Given the description of an element on the screen output the (x, y) to click on. 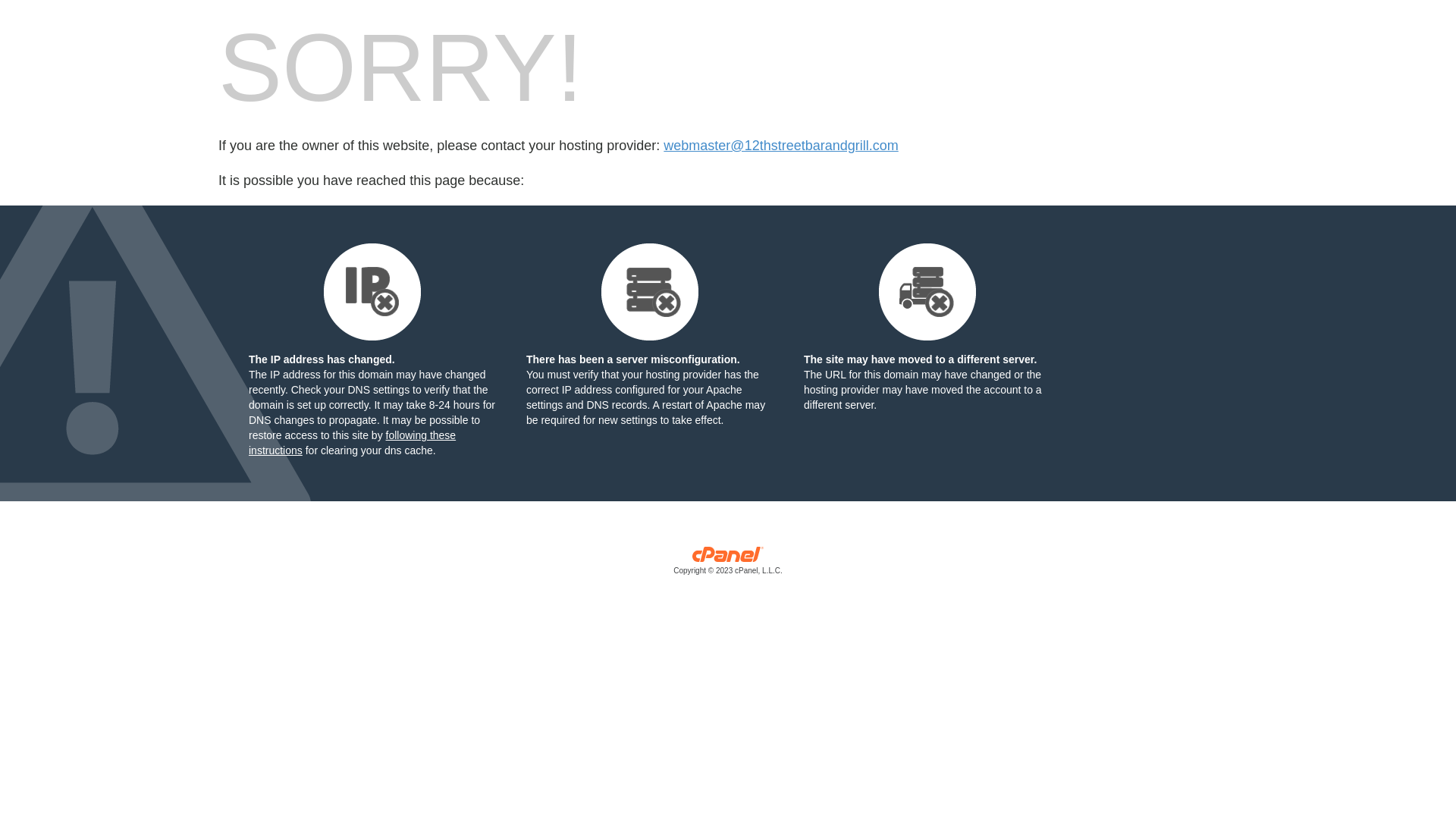
following these instructions Element type: text (351, 442)
webmaster@12thstreetbarandgrill.com Element type: text (780, 145)
